Given the description of an element on the screen output the (x, y) to click on. 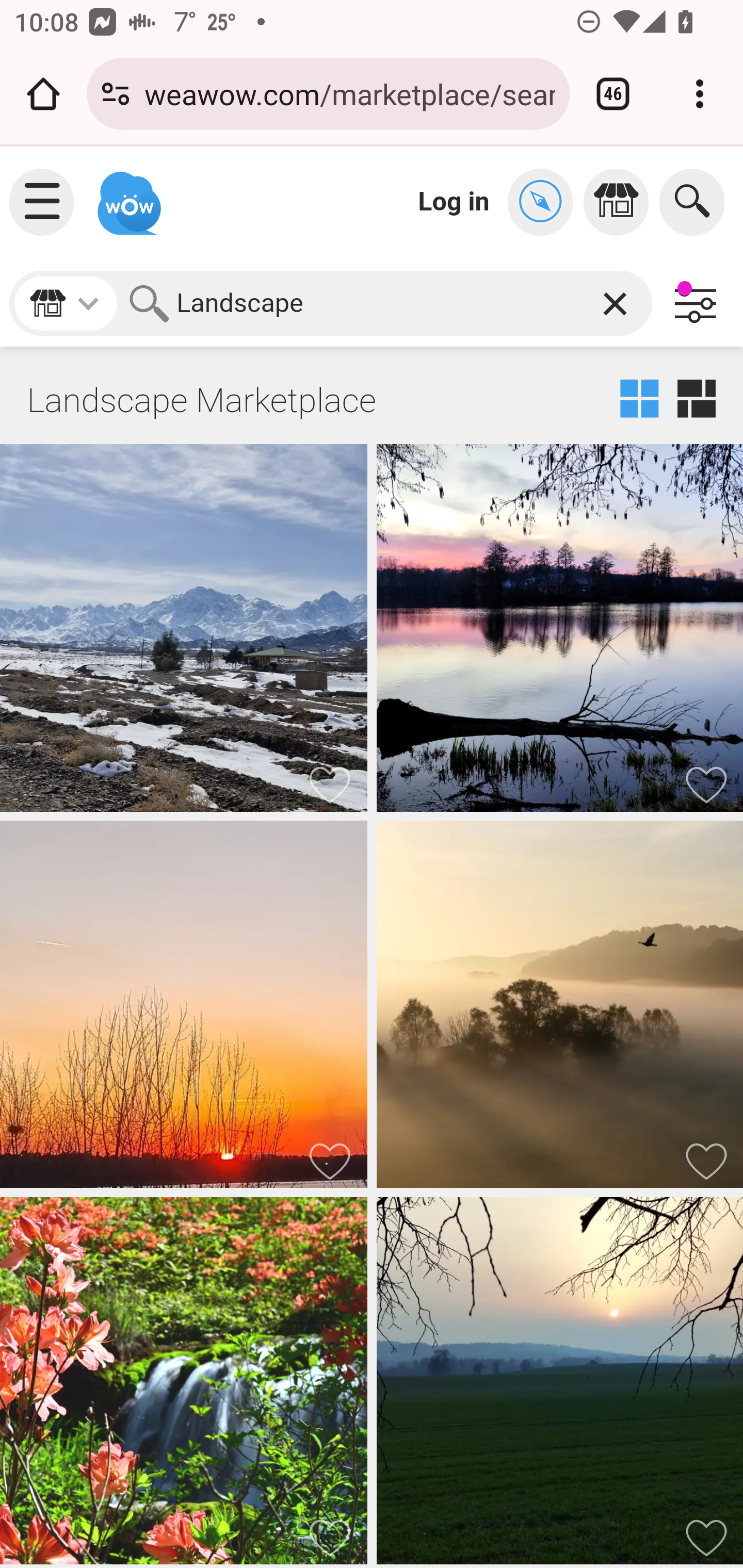
Open the home page (43, 93)
Connection is secure (115, 93)
Switch or close tabs (612, 93)
Customize and control Google Chrome (699, 93)
weawow.com/marketplace/search/Landscape (349, 92)
Weawow (127, 194)
 (545, 201)
 (621, 201)
Log in (453, 201)
Landscape (386, 303)
